Given the description of an element on the screen output the (x, y) to click on. 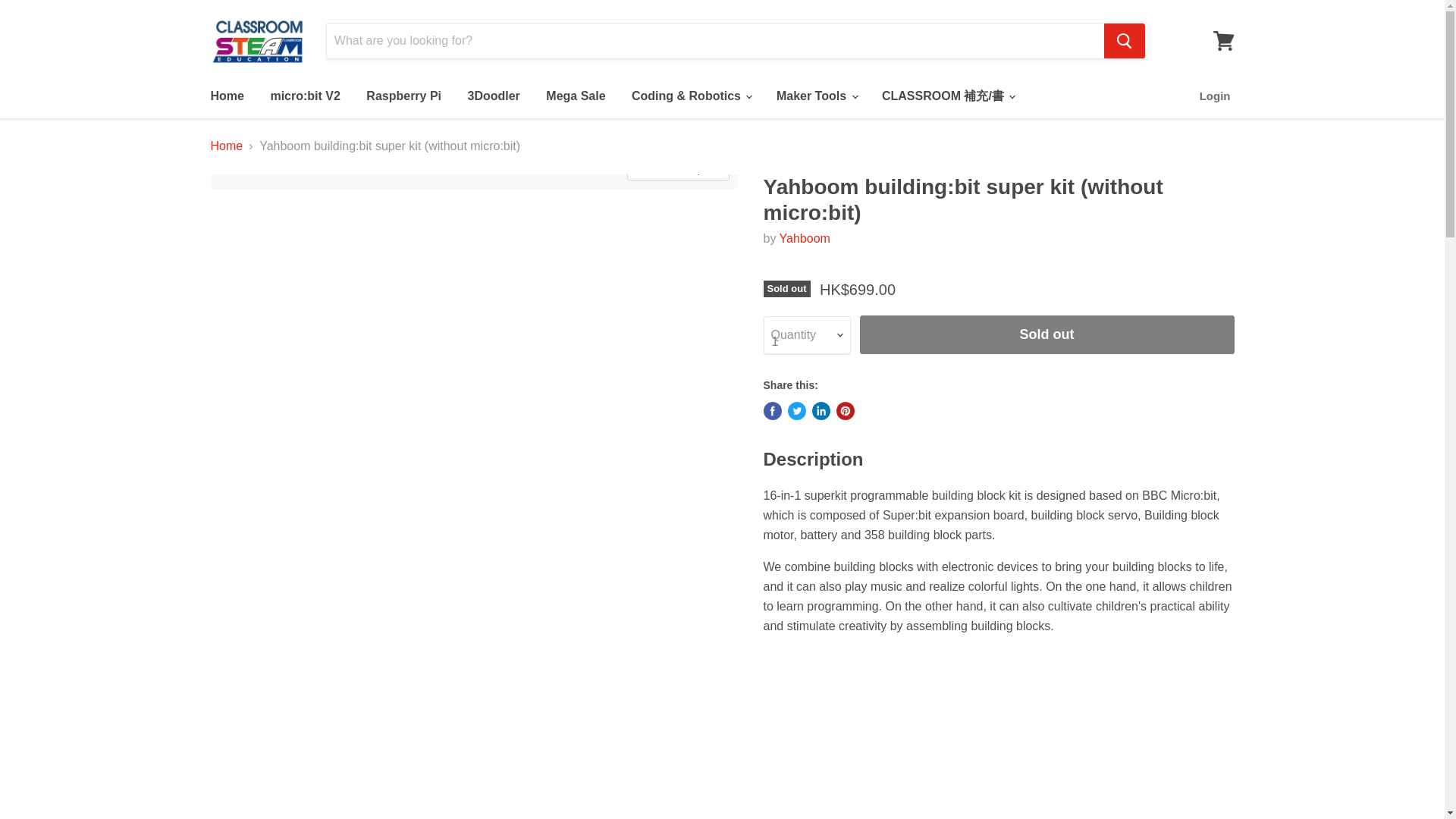
Raspberry Pi (403, 96)
Yahboom (803, 237)
Mega Sale (574, 96)
Login (1215, 96)
Maker Tools (816, 96)
Home (226, 96)
micro:bit V2 (304, 96)
View cart (1223, 40)
3Doodler (494, 96)
